Given the description of an element on the screen output the (x, y) to click on. 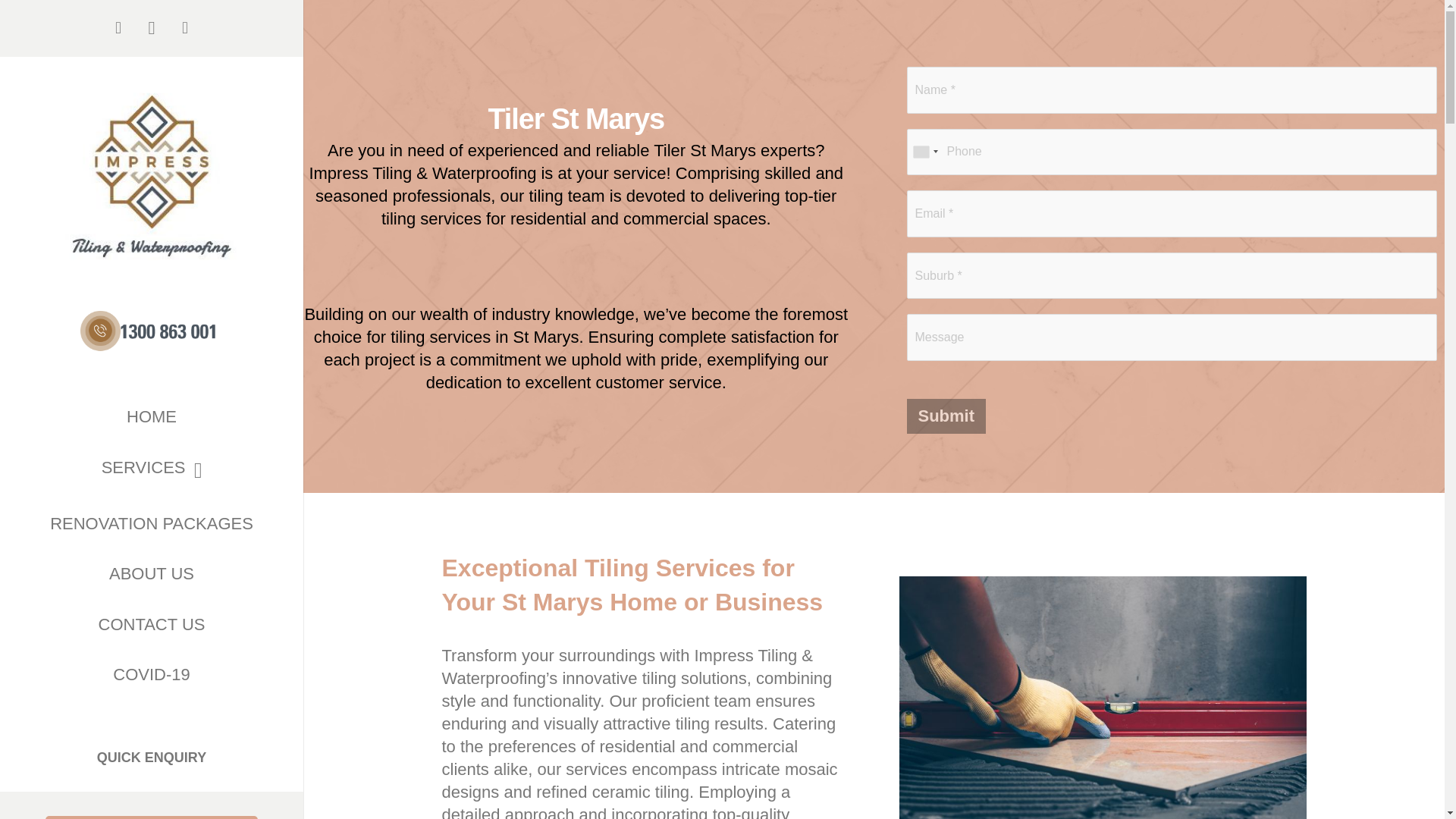
YouTube (185, 28)
Instagram (151, 28)
Submit (947, 416)
COVID-19 (151, 675)
RENOVATION PACKAGES (151, 523)
CONTACT US (151, 624)
SERVICES (151, 470)
ABOUT US (151, 573)
Facebook (118, 28)
HOME (151, 417)
